Given the description of an element on the screen output the (x, y) to click on. 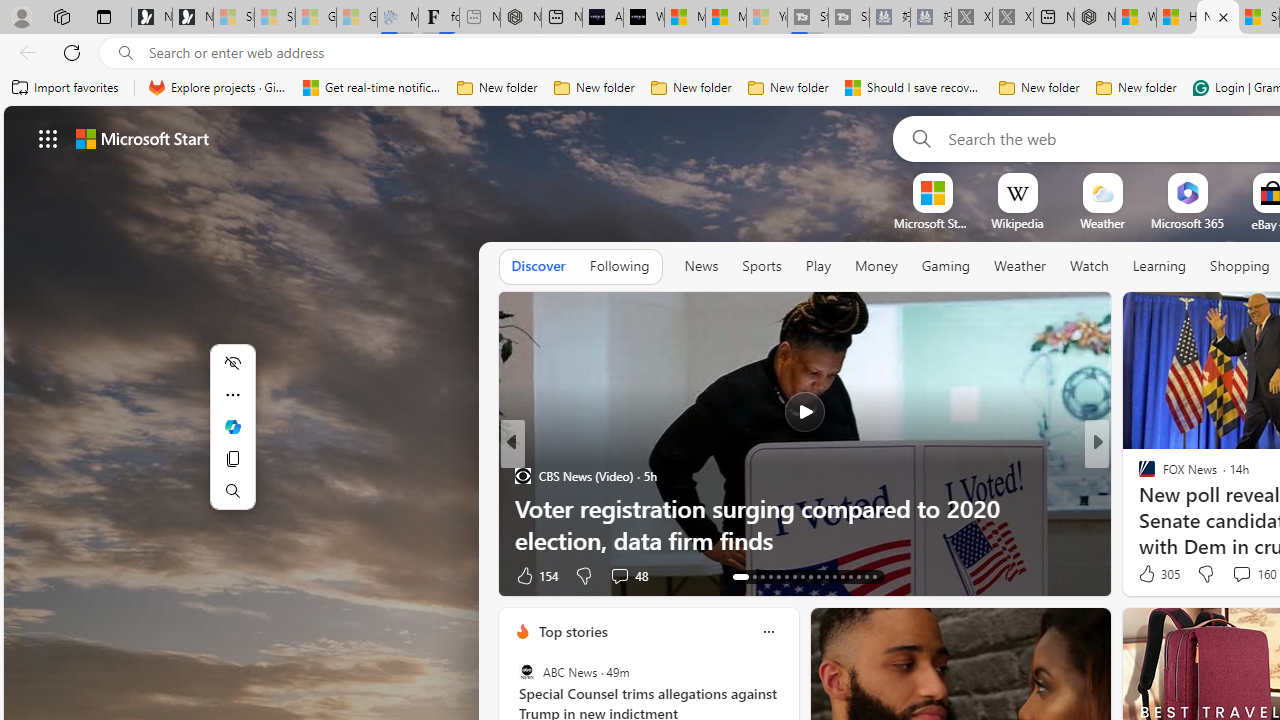
View comments 5 Comment (1229, 575)
Ask Copilot (232, 426)
Discover (538, 267)
Nordace - My Account (1094, 17)
News (701, 267)
AutomationID: tab-25 (842, 576)
PsychLove (1138, 475)
ABC News (526, 672)
Start the conversation (1234, 575)
AutomationID: tab-42 (865, 576)
18 Reasons Why Men Get Crankier As They Age (804, 539)
AutomationID: tab-23 (825, 576)
